Given the description of an element on the screen output the (x, y) to click on. 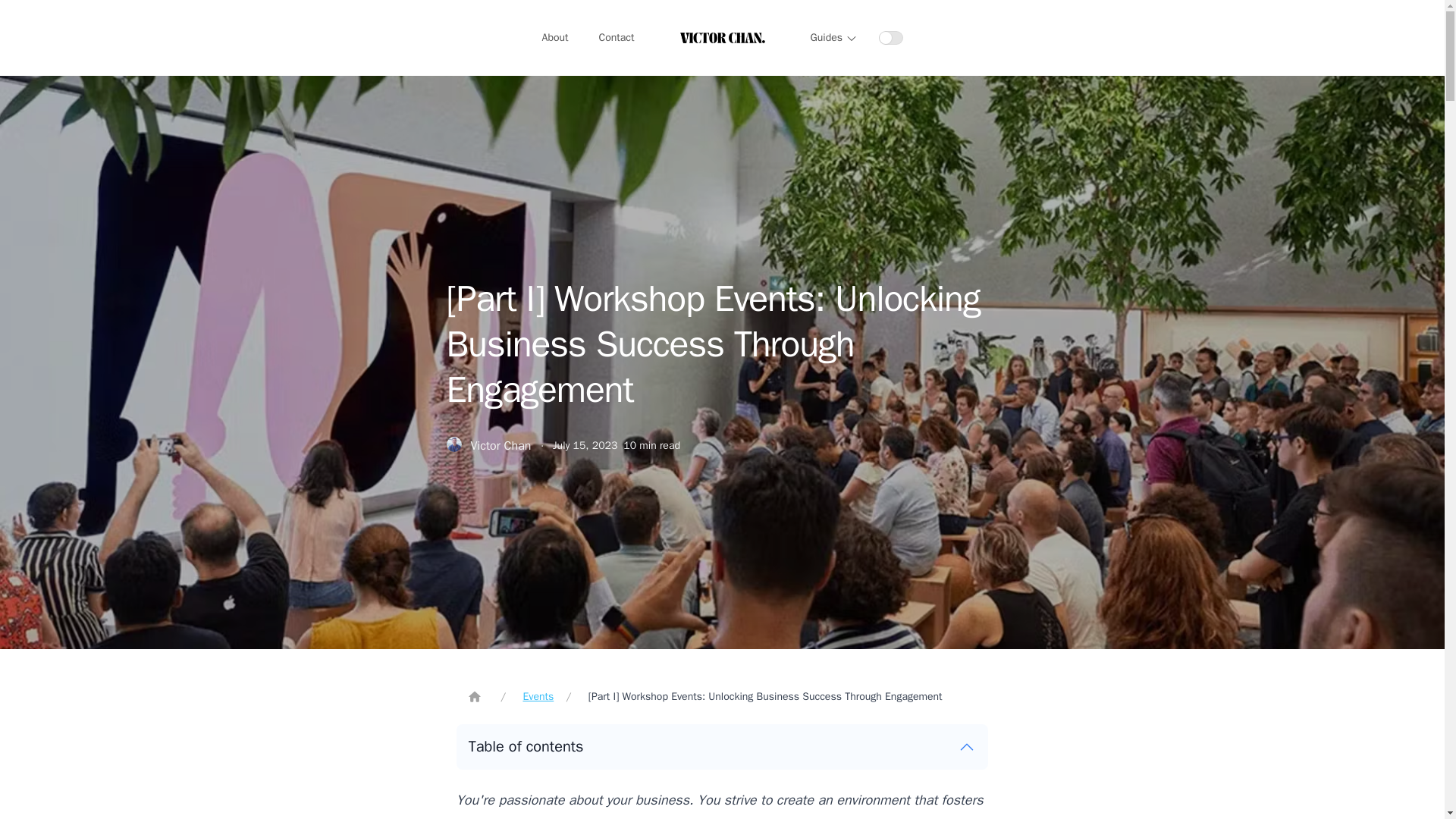
Victor Chan (500, 445)
Contact (616, 37)
Table of contents (722, 746)
About (555, 37)
Agree to policies (890, 38)
Guides (833, 37)
Events (537, 696)
